Given the description of an element on the screen output the (x, y) to click on. 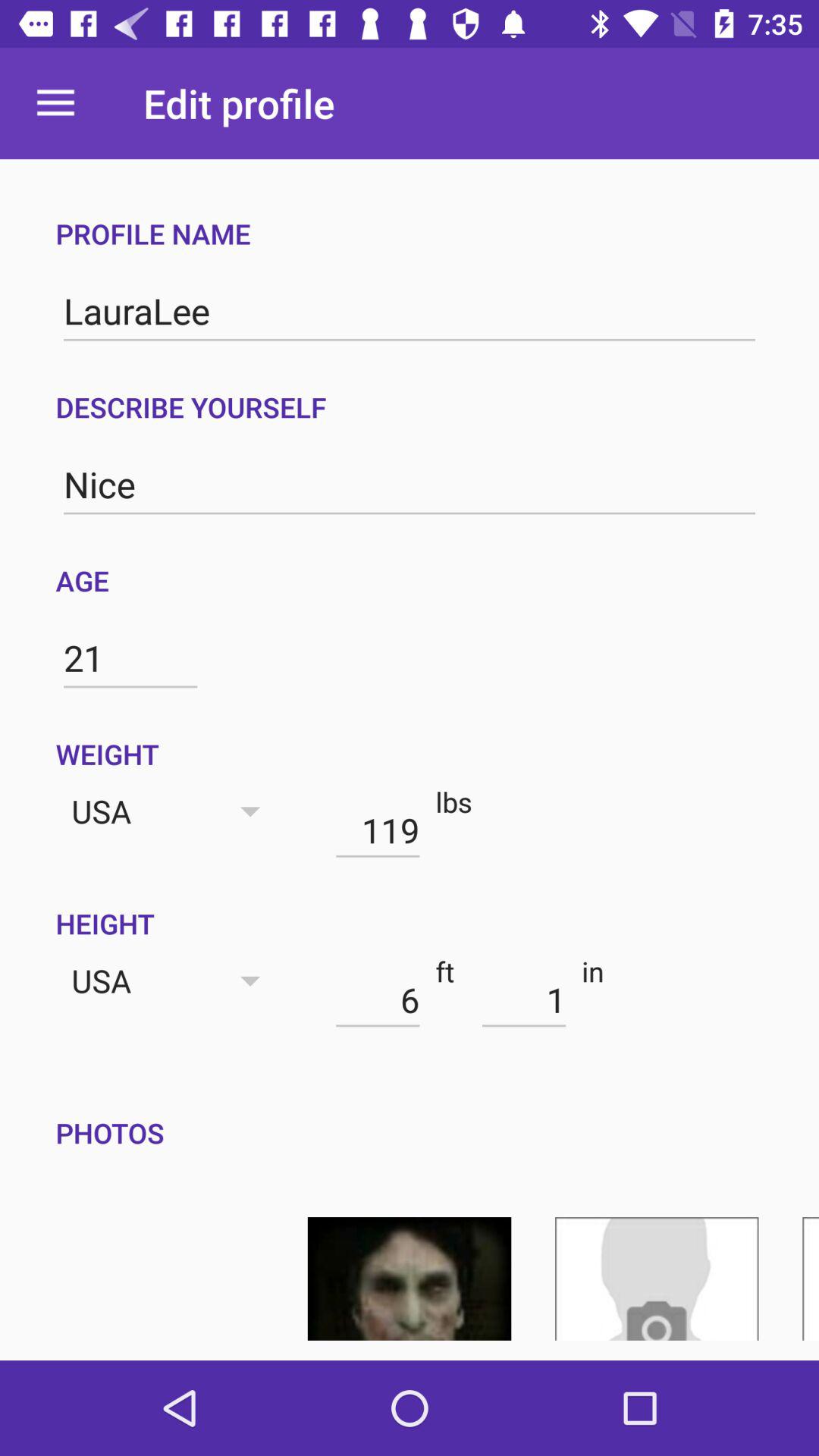
select the icon next to in item (523, 999)
